Given the description of an element on the screen output the (x, y) to click on. 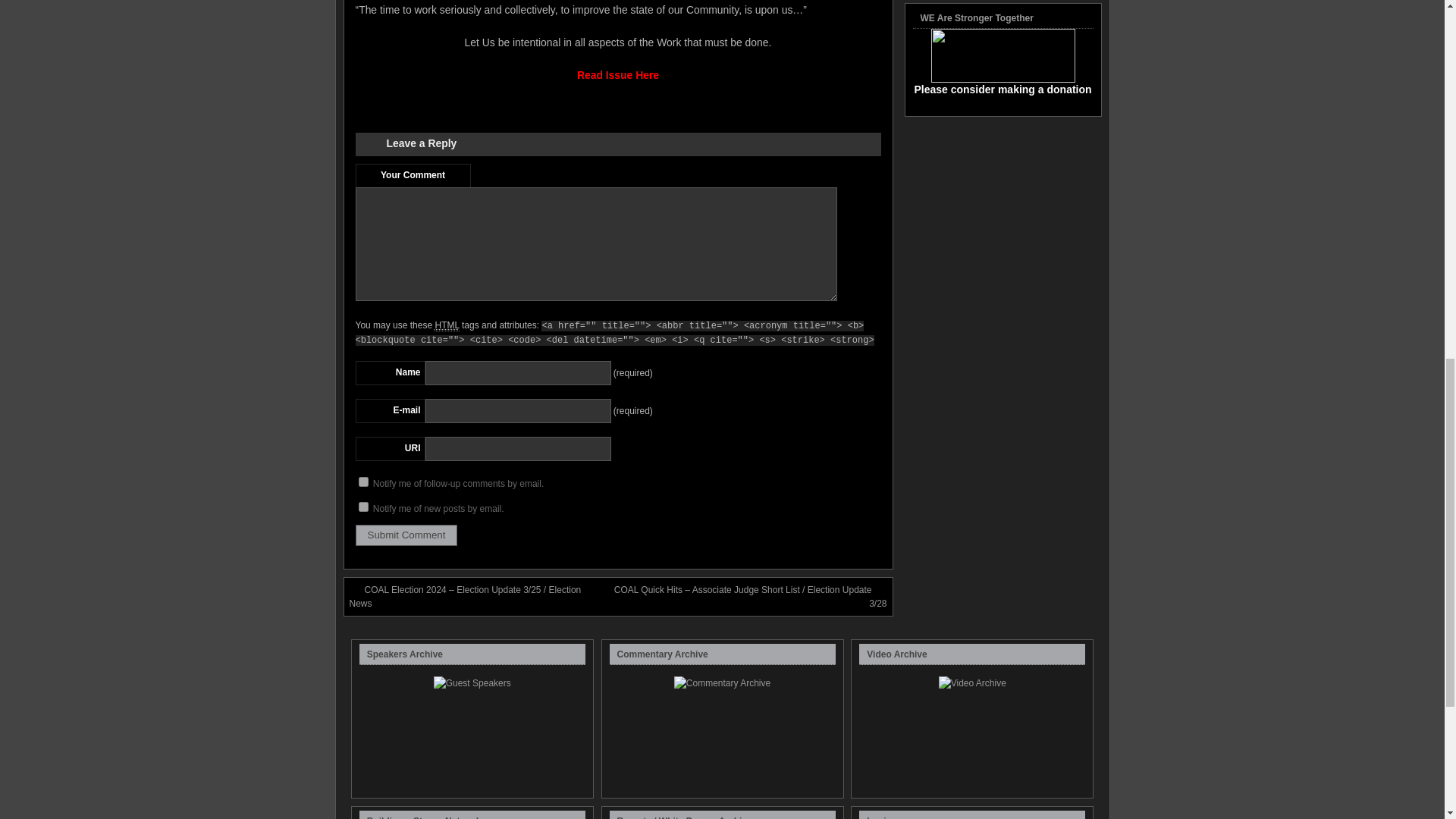
HyperText Markup Language (445, 325)
Submit Comment (406, 535)
Read Issue Here (617, 74)
Submit Comment (406, 535)
subscribe (363, 506)
subscribe (363, 481)
